Given the description of an element on the screen output the (x, y) to click on. 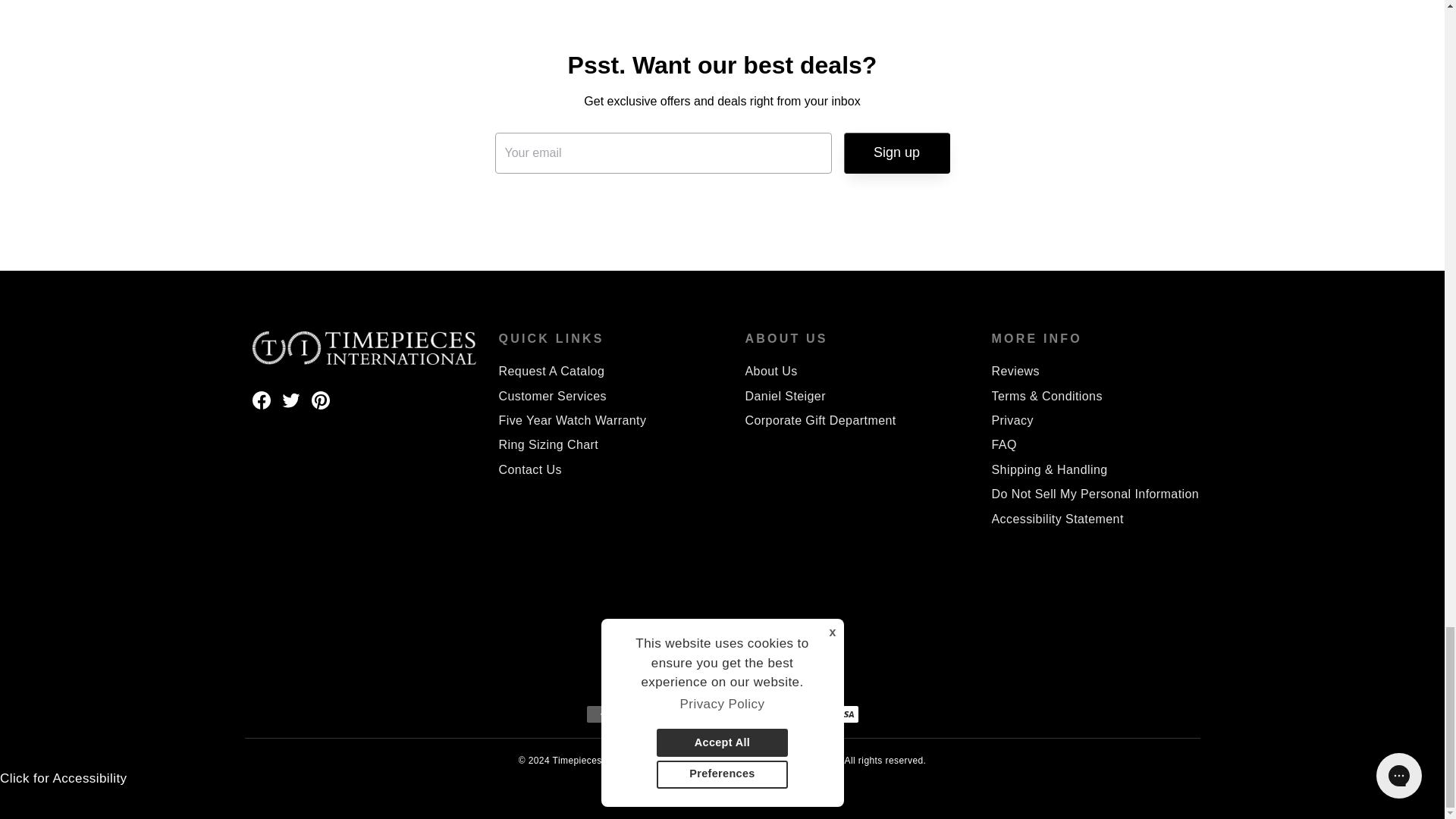
Timepieces International on Facebook (260, 399)
